Given the description of an element on the screen output the (x, y) to click on. 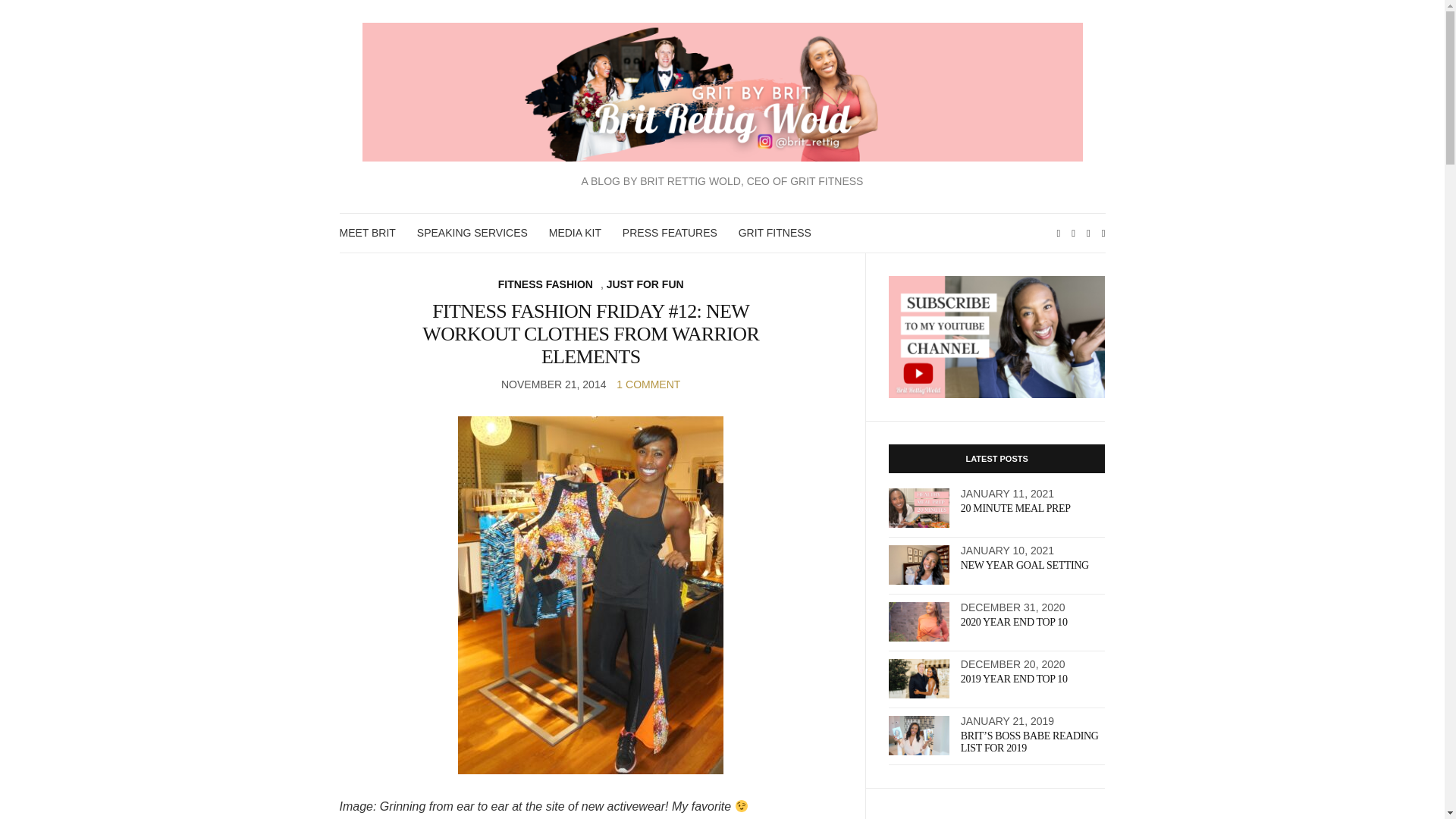
GRIT FITNESS (774, 232)
FITNESS FASHION (544, 284)
MEDIA KIT (574, 232)
SPEAKING SERVICES (471, 232)
1 COMMENT (647, 384)
MEET BRIT (367, 232)
JUST FOR FUN (645, 284)
20 MINUTE MEAL PREP (1015, 508)
PRESS FEATURES (670, 232)
NEW YEAR GOAL SETTING (1024, 564)
2020 YEAR END TOP 10 (1013, 622)
